Given the description of an element on the screen output the (x, y) to click on. 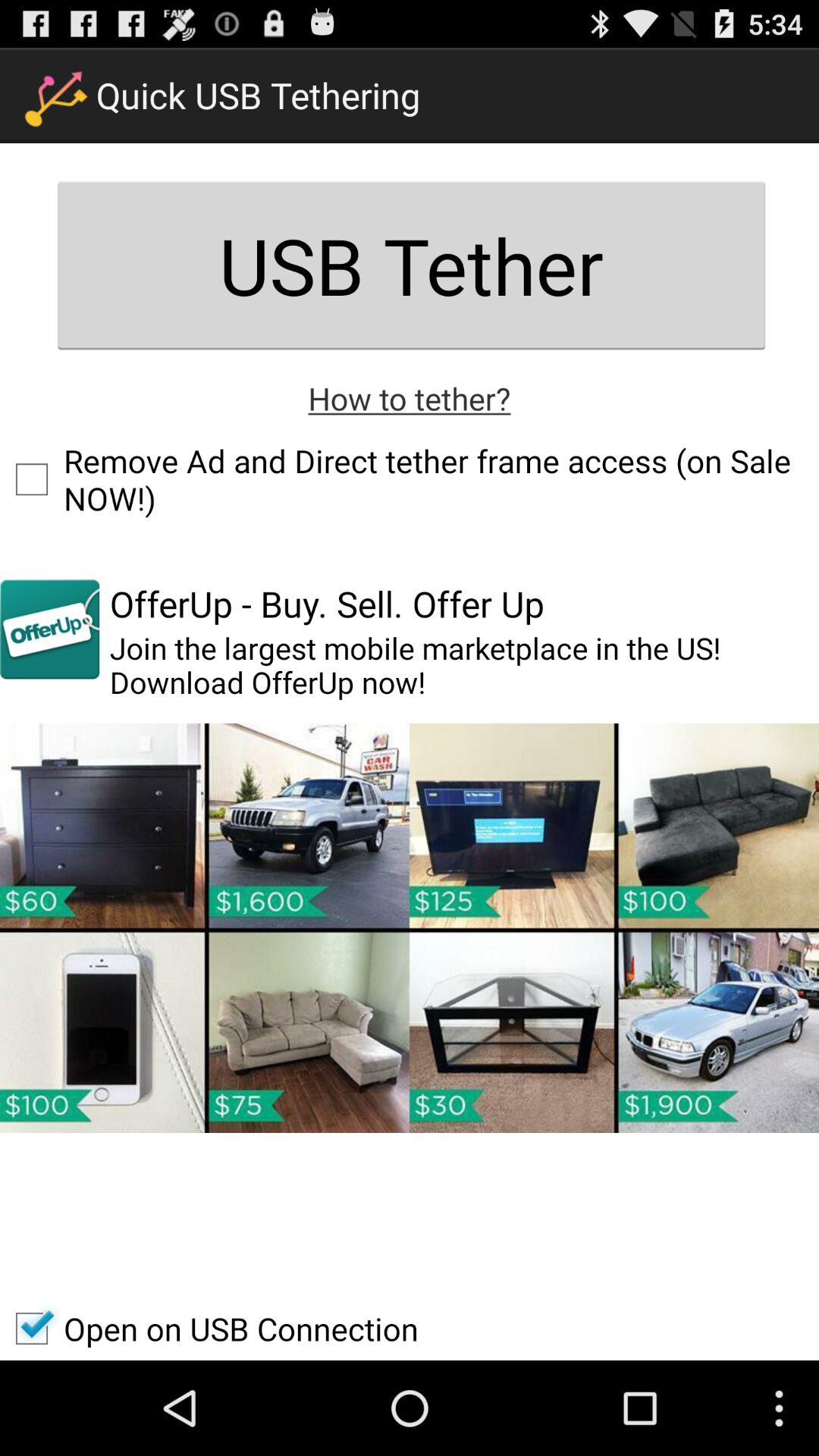
open icon above the join the largest item (326, 603)
